Given the description of an element on the screen output the (x, y) to click on. 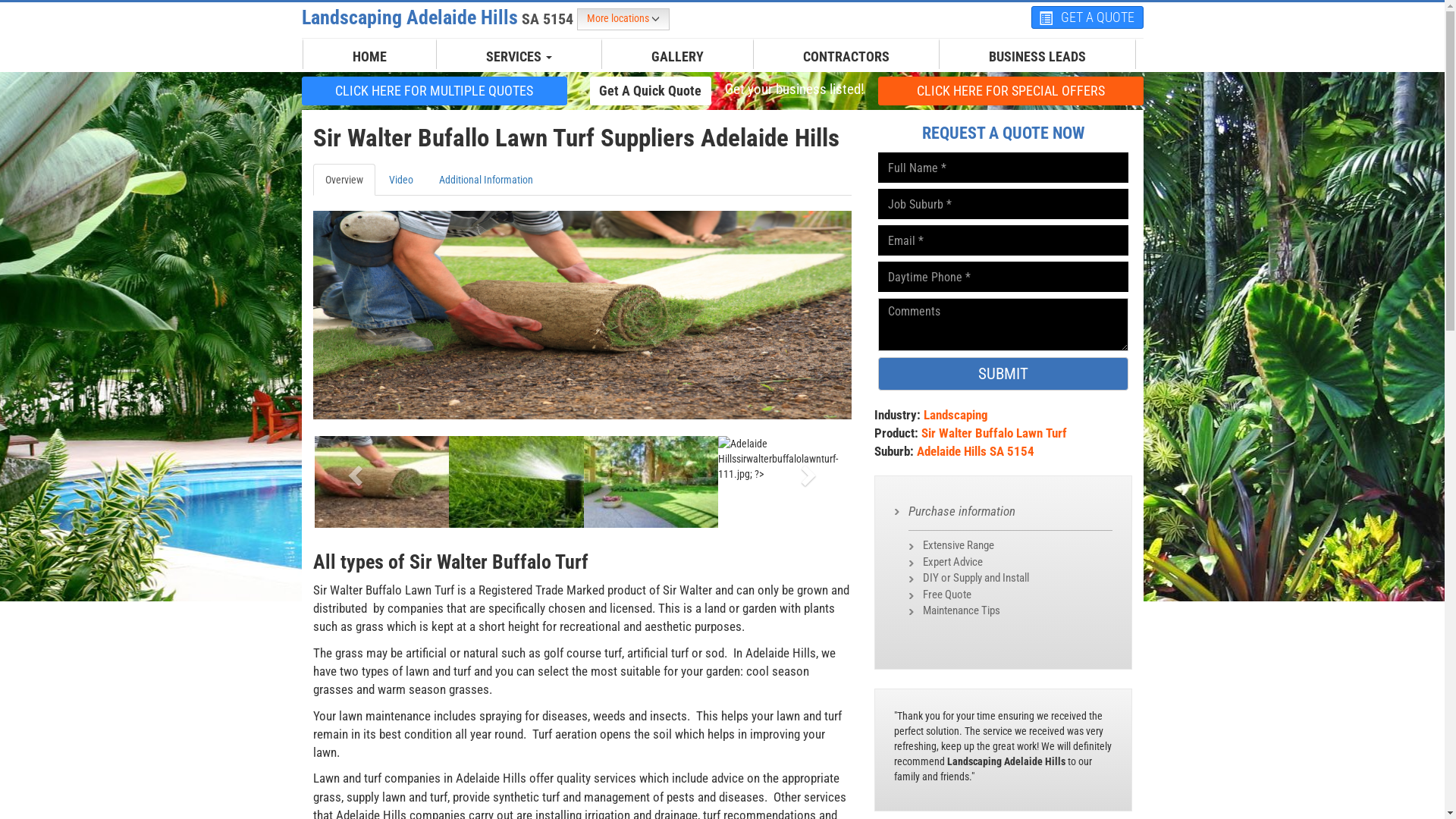
More locations Element type: text (622, 19)
BUSINESS LEADS Element type: text (1036, 56)
CLICK HERE FOR SPECIAL OFFERS Element type: text (1010, 90)
Additional Information Element type: text (485, 179)
CLICK HERE FOR MULTIPLE QUOTES Element type: text (434, 90)
CLICK HERE FOR MULTIPLE QUOTES Element type: text (434, 90)
CLICK HERE FOR SPECIAL OFFERS Element type: text (1010, 90)
GET A QUOTE Element type: text (1087, 17)
prev Element type: hover (352, 470)
Video Element type: text (400, 179)
SERVICES Element type: text (518, 56)
HOME Element type: text (369, 56)
GALLERY Element type: text (677, 56)
Overview Element type: text (343, 179)
Get A Quick Quote Element type: text (650, 90)
Get your business listed! Element type: text (793, 89)
Get A Quick Quote Element type: text (650, 90)
Landscaping Adelaide Hills SA 5154 Element type: text (439, 17)
CONTRACTORS Element type: text (845, 56)
SUBMIT Element type: text (1003, 373)
